Given the description of an element on the screen output the (x, y) to click on. 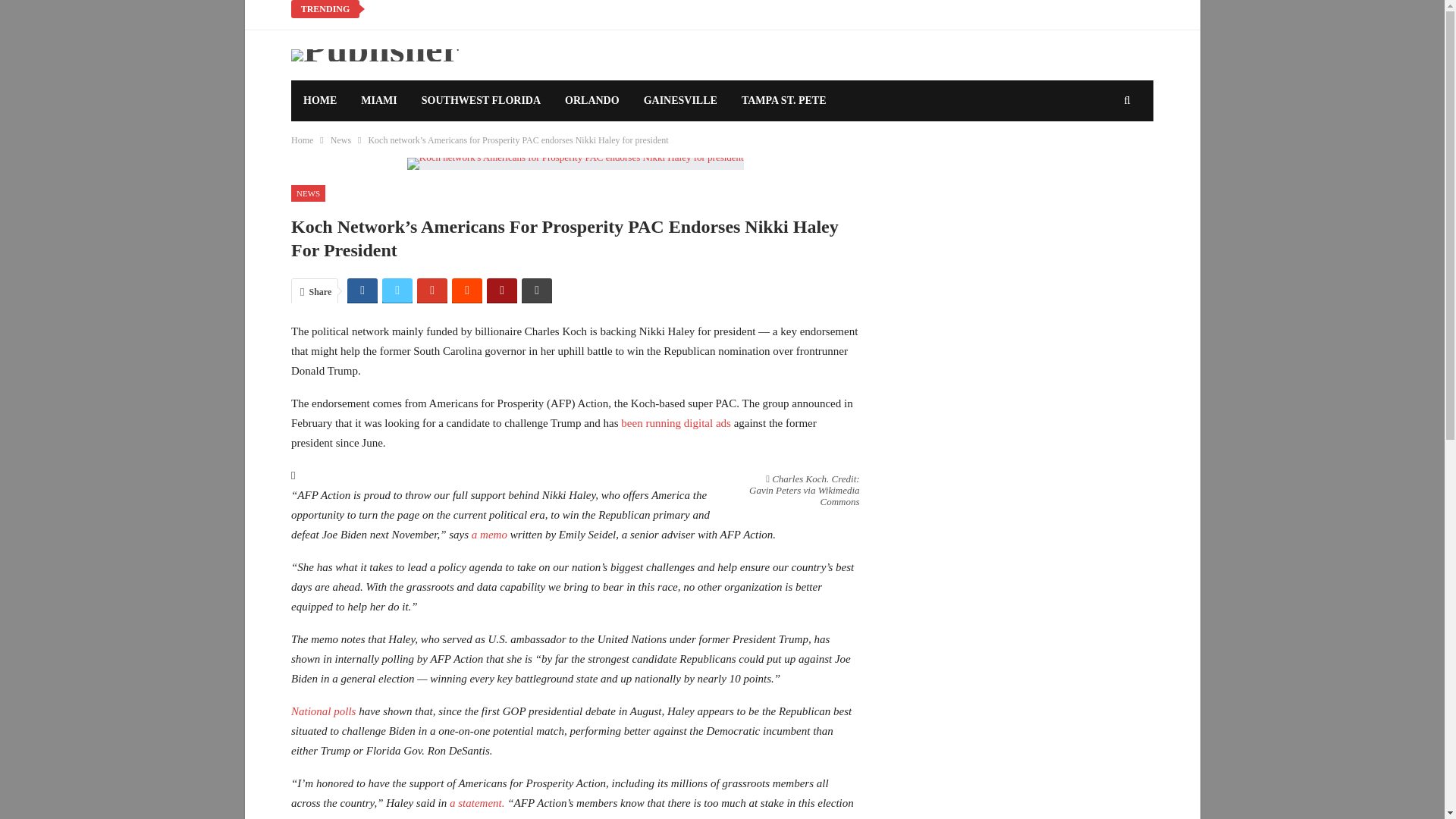
been running digital ads (675, 422)
HOME (320, 100)
National polls (323, 711)
Home (302, 139)
a statement. (474, 802)
SOUTHWEST FLORIDA (481, 100)
a memo (488, 534)
News (340, 139)
MIAMI (379, 100)
TAMPA ST. PETE (783, 100)
